Given the description of an element on the screen output the (x, y) to click on. 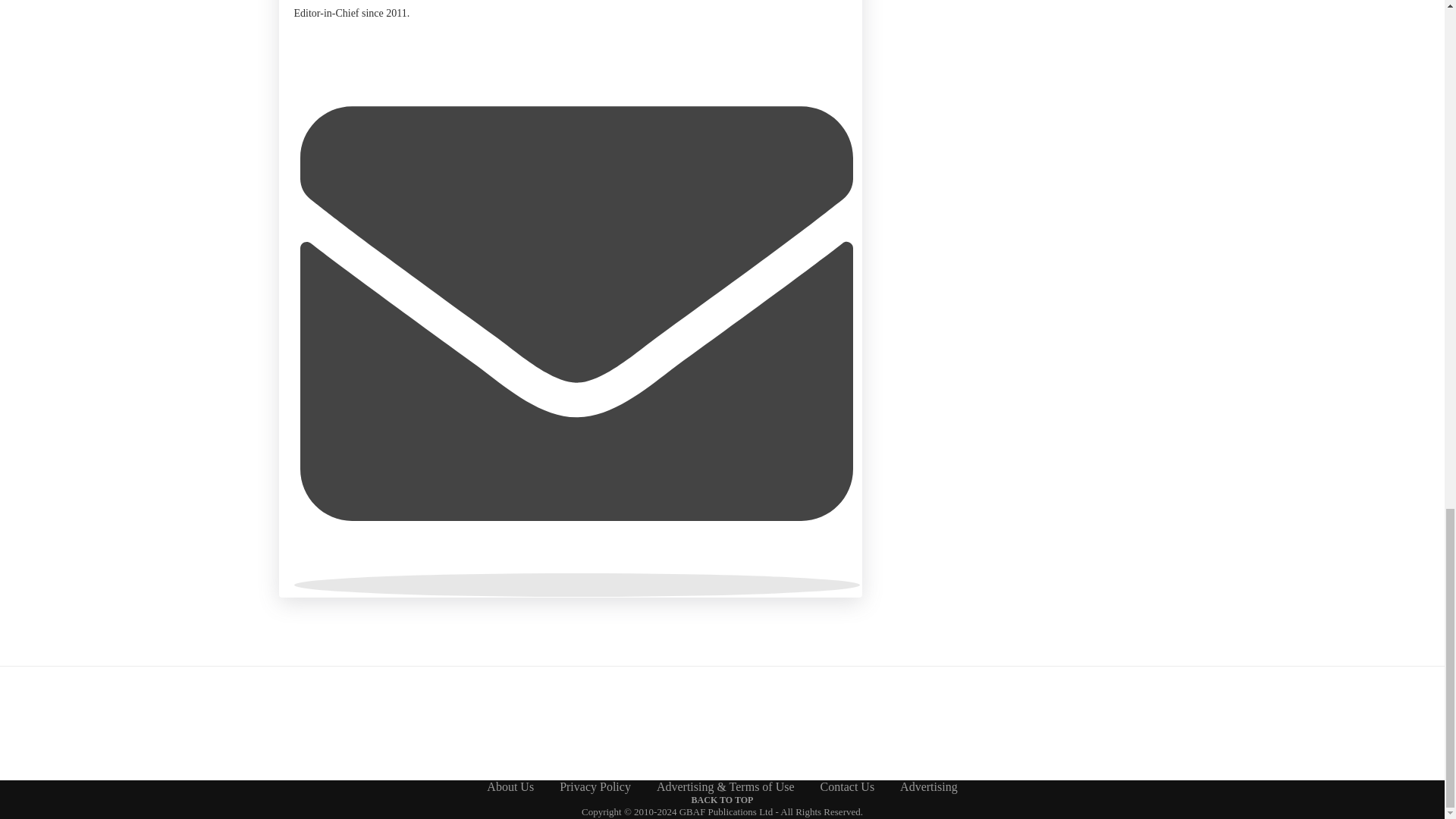
Contact Us (848, 786)
Privacy Policy (594, 786)
BACK TO TOP (722, 798)
About Us (510, 786)
User email (577, 585)
Advertising (928, 786)
